Given the description of an element on the screen output the (x, y) to click on. 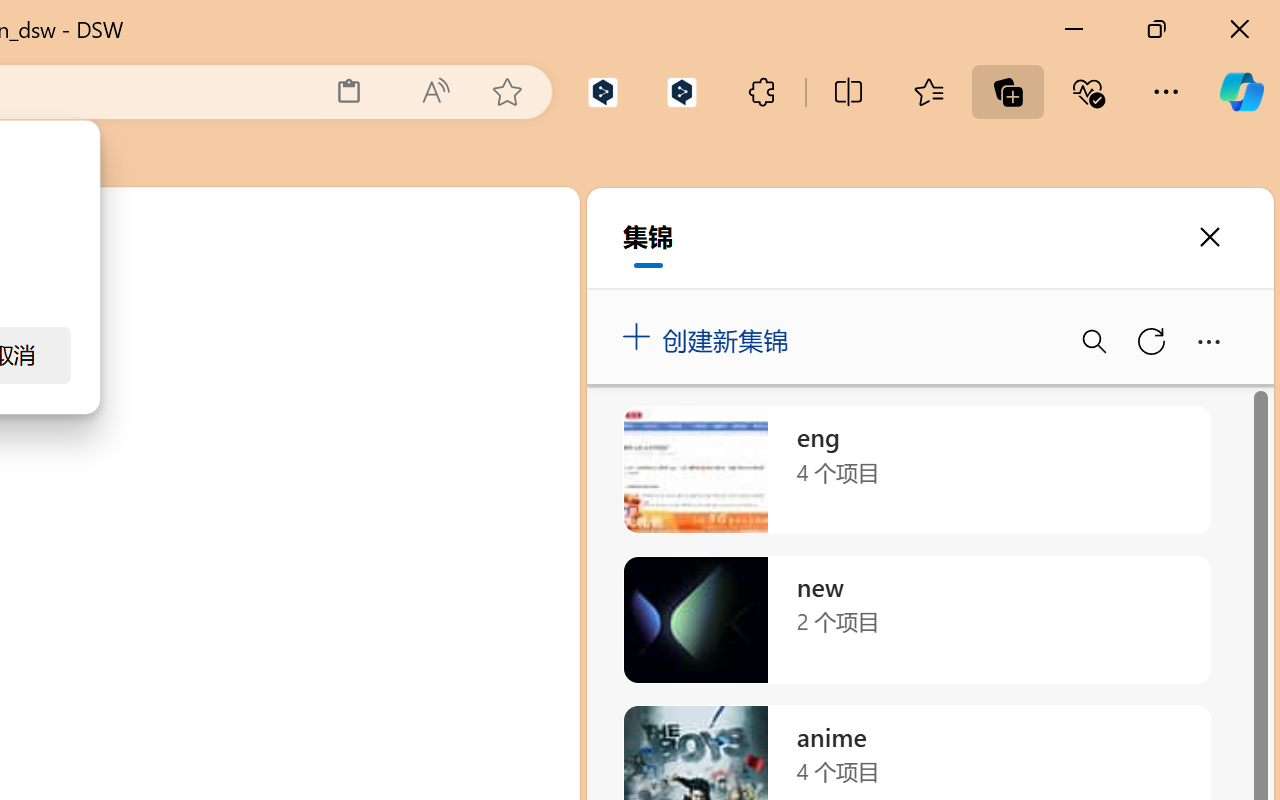
C27.6% M12.2% G10.0% (919, 225)
icon (1131, 220)
Title actions (1178, 294)
Toggle Primary Side Bar (Ctrl+B) (1108, 294)
